Given the description of an element on the screen output the (x, y) to click on. 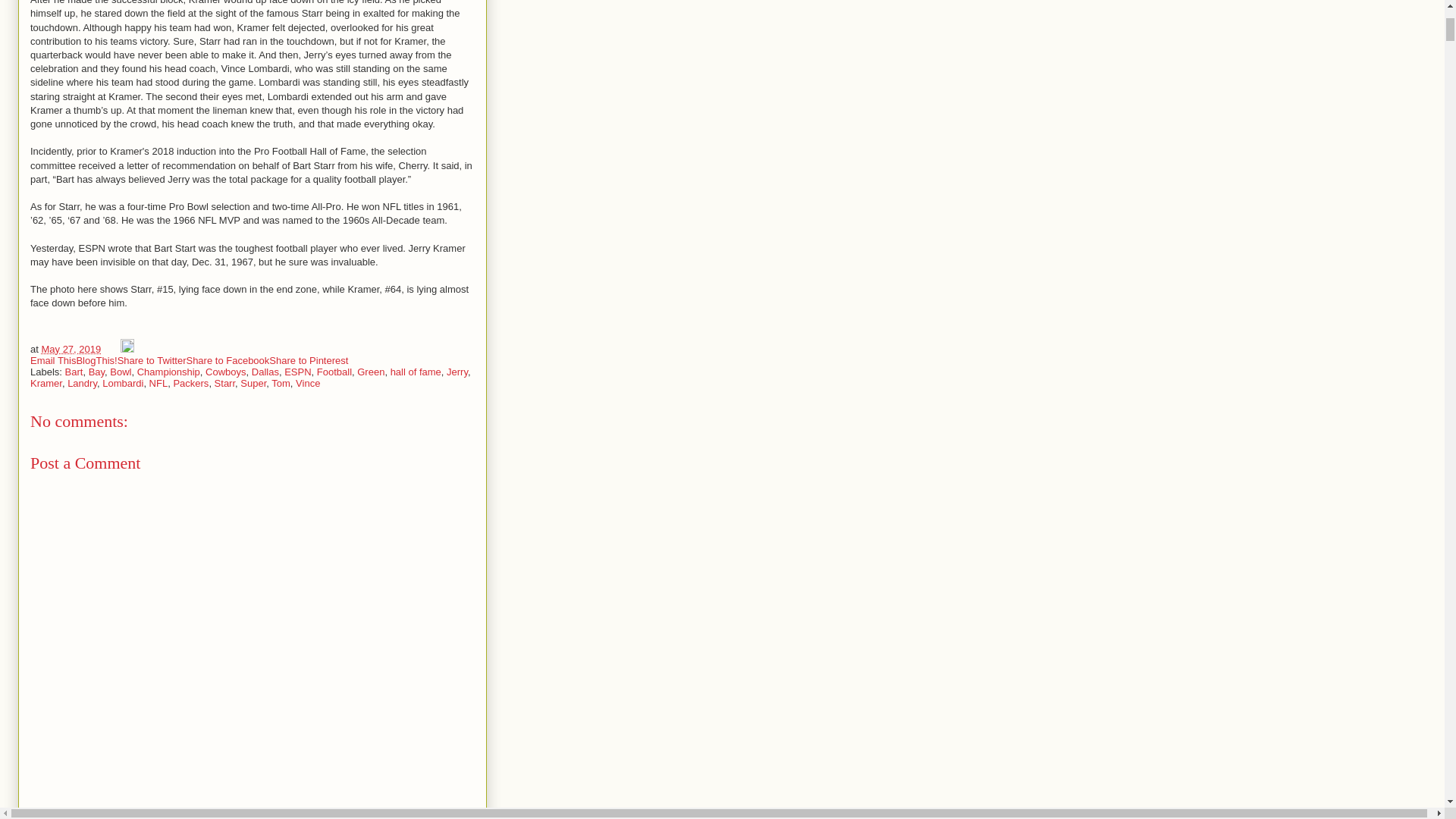
Kramer (46, 383)
Jerry (456, 371)
Tom (279, 383)
NFL (158, 383)
Share to Pinterest (308, 360)
Bowl (120, 371)
Packers (190, 383)
Bay (96, 371)
hall of fame (415, 371)
Championship (168, 371)
Email Post (111, 348)
Starr (224, 383)
Lombardi (121, 383)
BlogThis! (95, 360)
May 27, 2019 (70, 348)
